Given the description of an element on the screen output the (x, y) to click on. 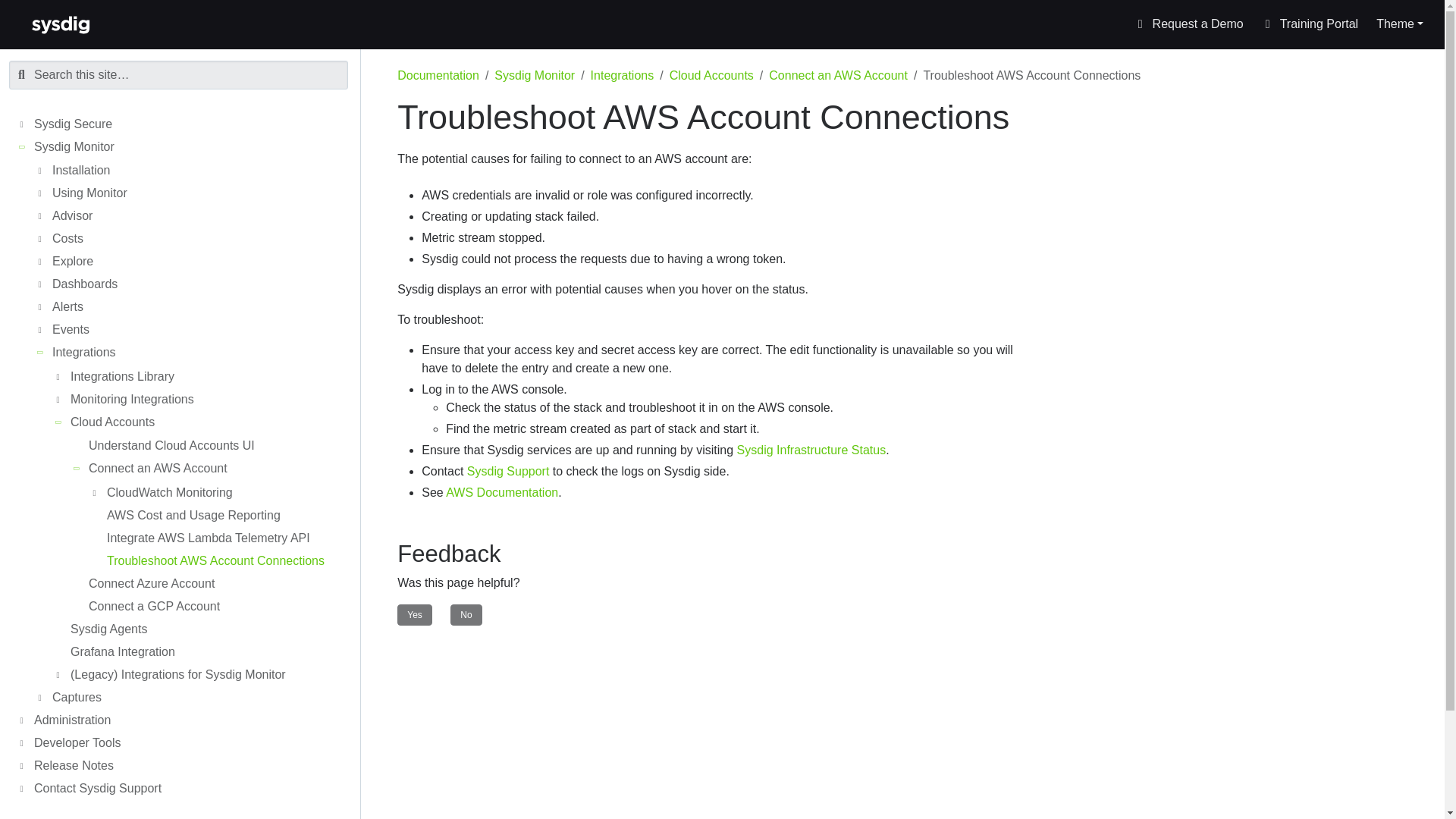
Theme (1399, 24)
Training Portal (1281, 24)
Sysdig Secure (1309, 24)
Request a Demo (186, 126)
